Given the description of an element on the screen output the (x, y) to click on. 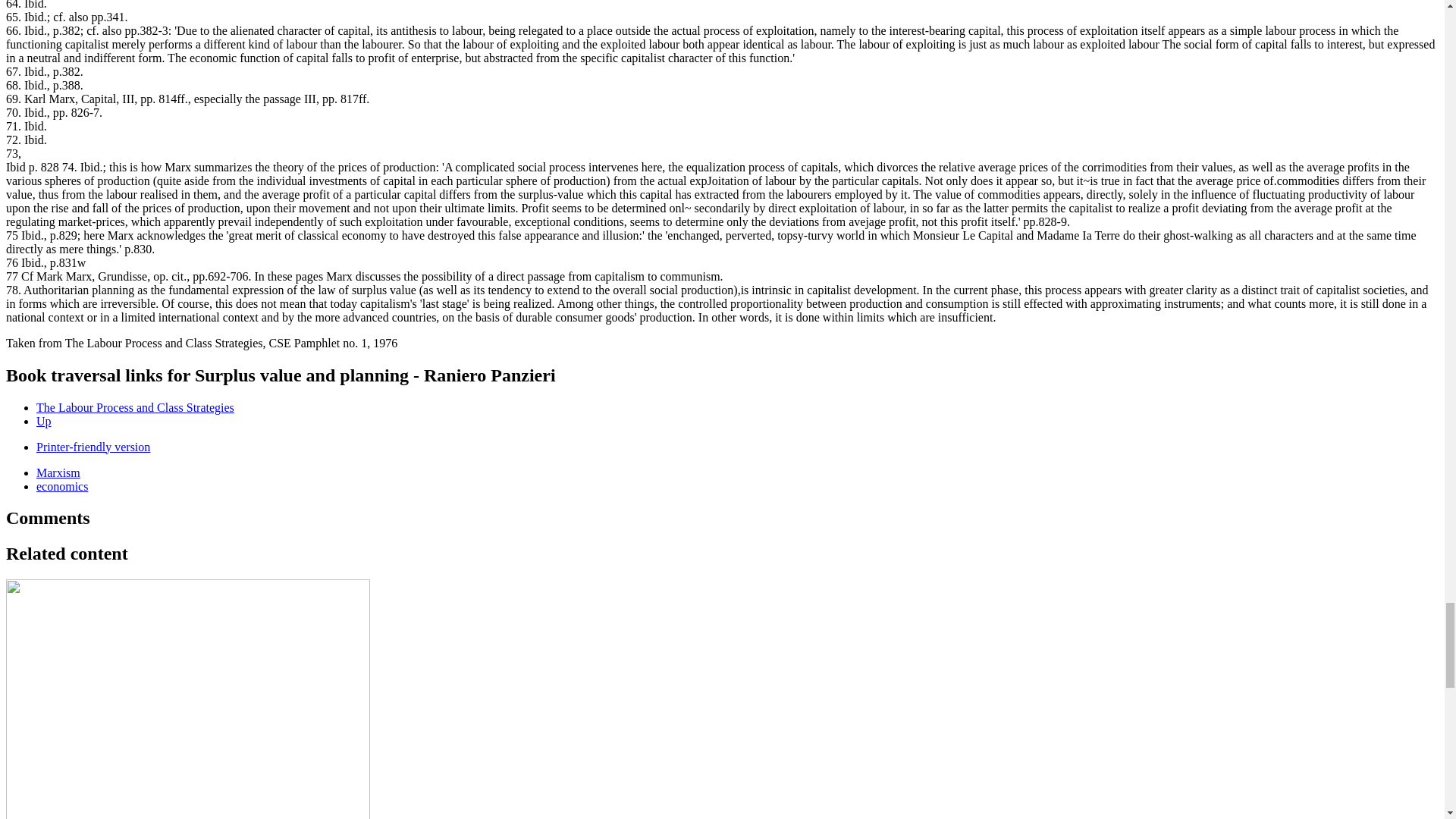
Go to parent page (43, 420)
Go to previous page (135, 406)
economics (61, 485)
Marxism (58, 472)
The Labour Process and Class Strategies (135, 406)
Up (43, 420)
Printer-friendly version (92, 445)
